Given the description of an element on the screen output the (x, y) to click on. 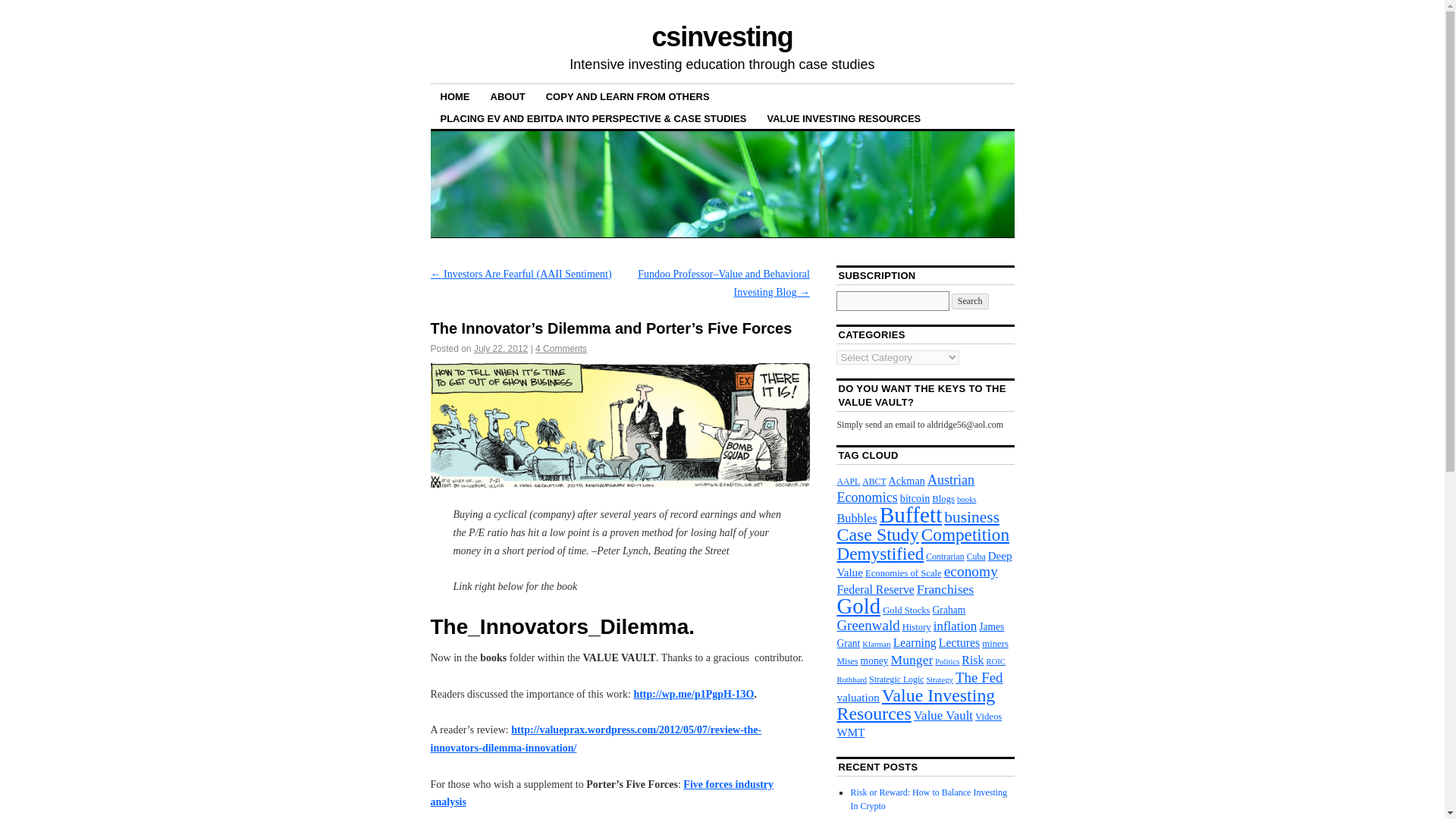
Ackman (906, 480)
ABCT (873, 480)
Search (970, 301)
Buffett (910, 514)
AAPL (847, 480)
Blogs (943, 498)
csinvesting (721, 36)
books (965, 499)
Austrian Economics (904, 488)
COPY AND LEARN FROM OTHERS (627, 96)
csinvesting (721, 36)
VALUE INVESTING RESOURCES (844, 117)
business (970, 516)
Five forces industry analysis (602, 793)
3:24 pm (500, 348)
